Given the description of an element on the screen output the (x, y) to click on. 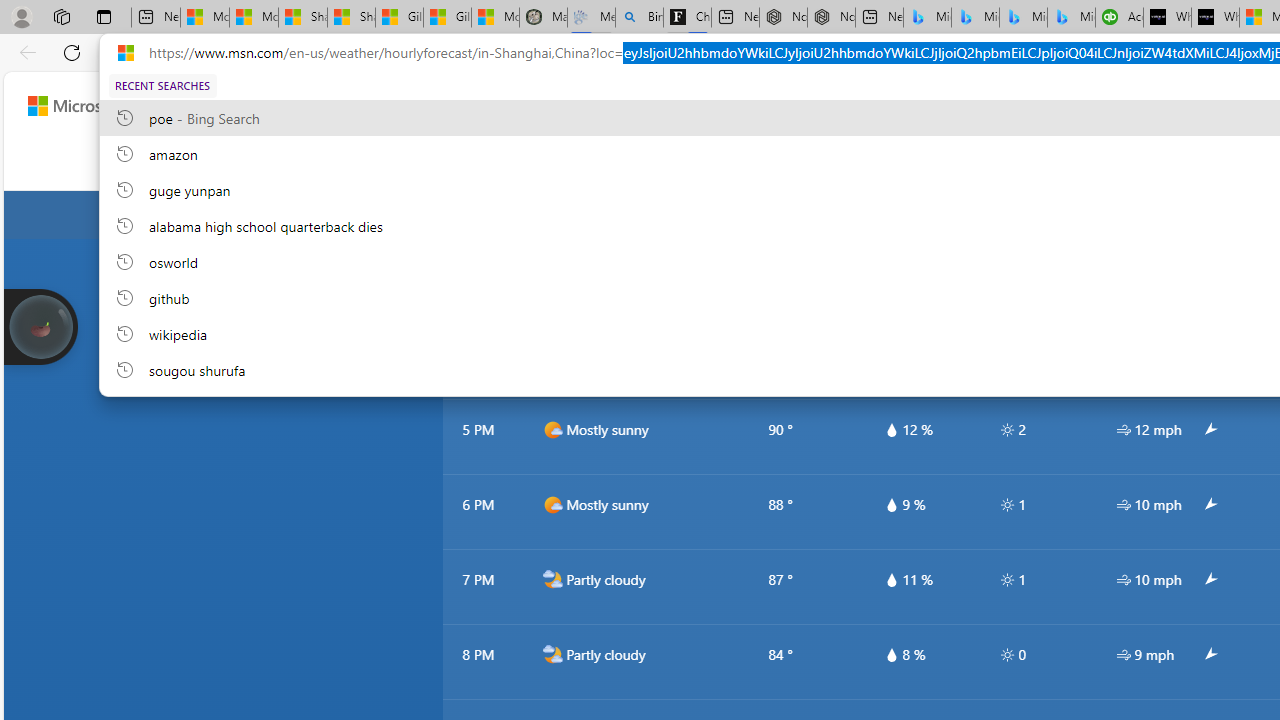
Hourly (671, 162)
Web search (702, 105)
Open navigation menu (291, 162)
What's the best AI voice generator? - voice.ai (1215, 17)
Discover (345, 162)
Bing Real Estate - Home sales and rental listings (639, 17)
Manatee Mortality Statistics | FWC (543, 17)
Trends (828, 162)
Trends (829, 162)
Nordace - #1 Japanese Best-Seller - Siena Smart Backpack (831, 17)
Weather (523, 162)
